Given the description of an element on the screen output the (x, y) to click on. 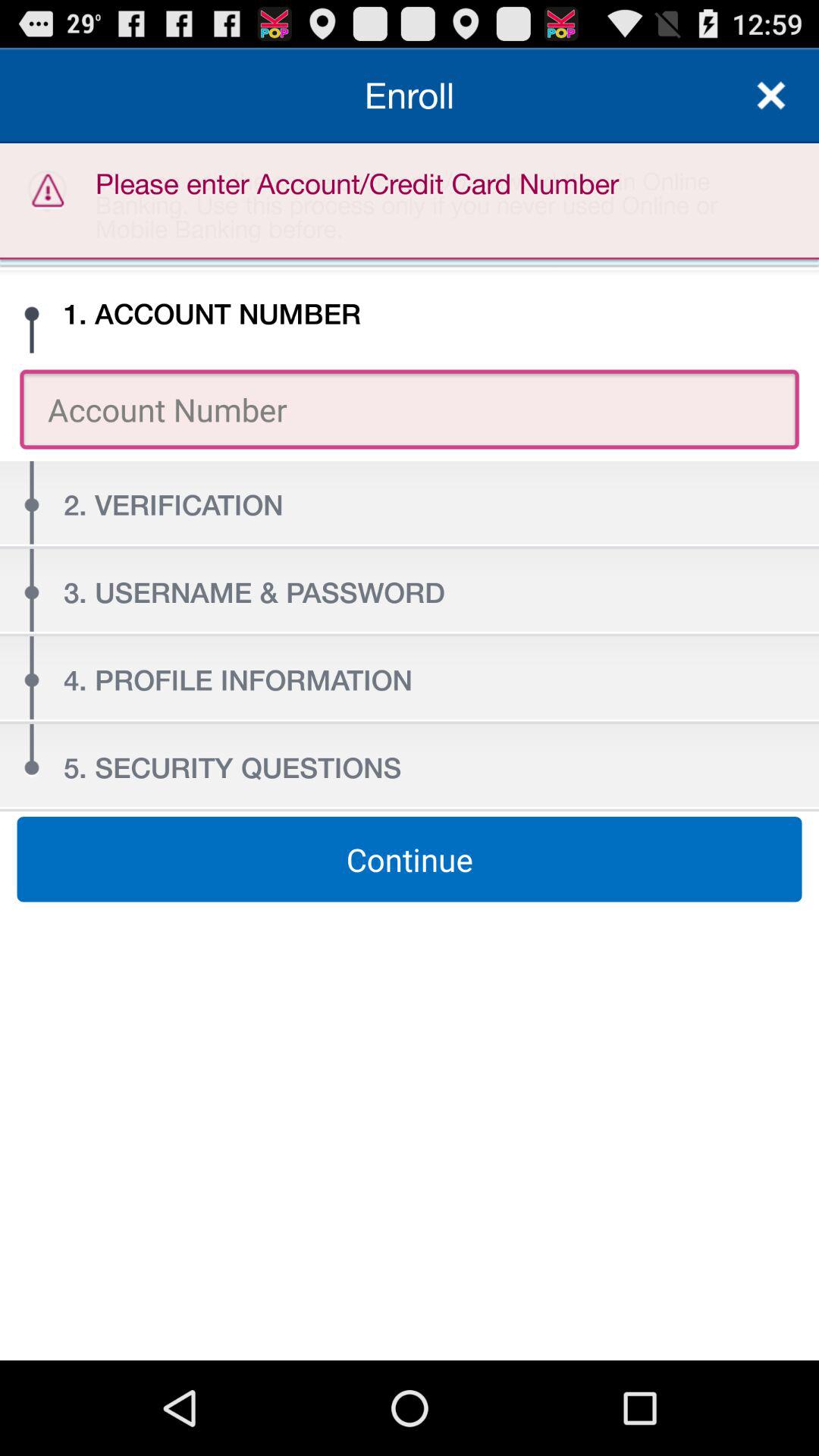
press continue icon (409, 859)
